Given the description of an element on the screen output the (x, y) to click on. 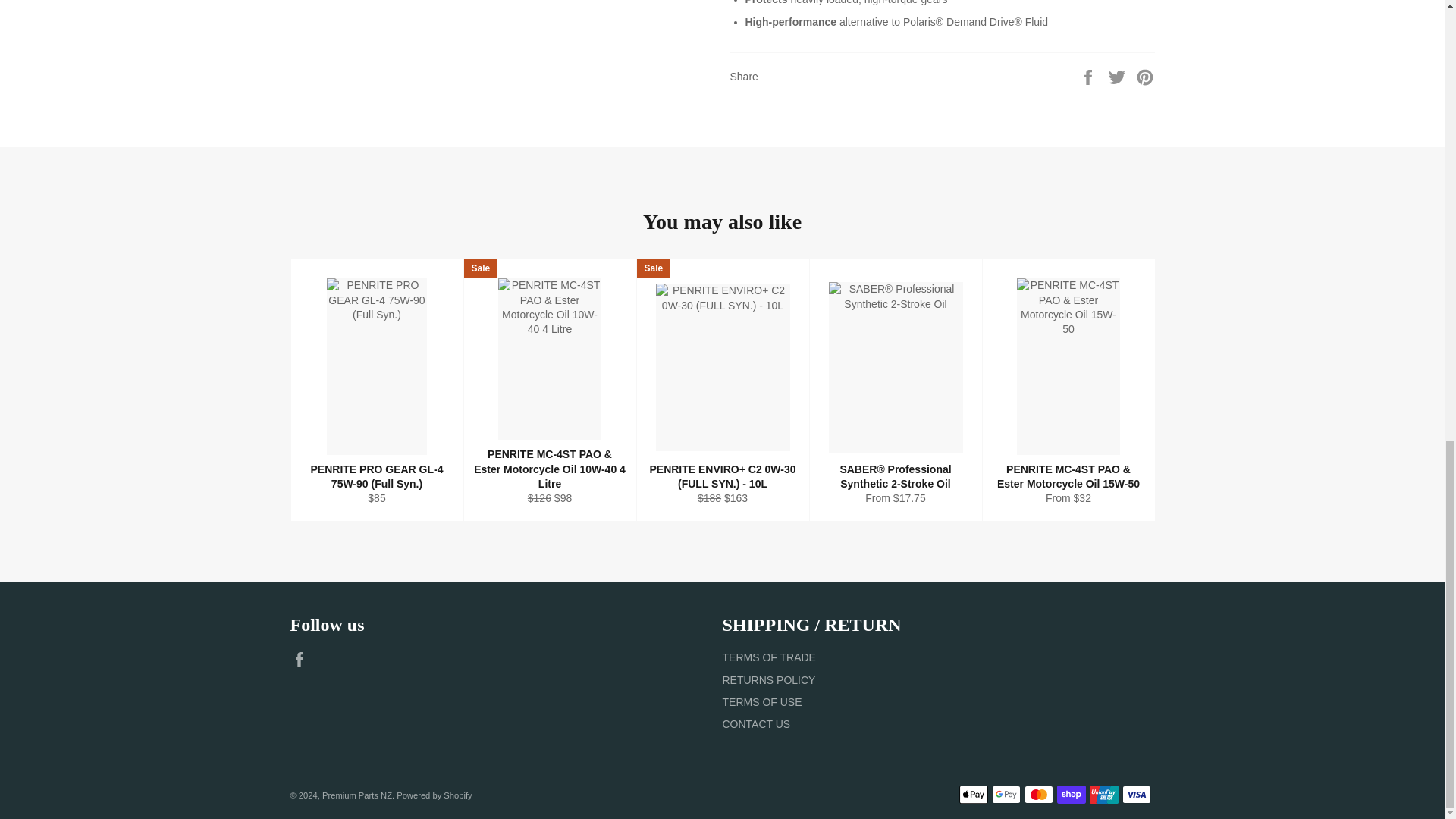
Premium Parts NZ on Facebook (302, 659)
Share on Facebook (1089, 76)
Tweet on Twitter (1118, 76)
Pin on Pinterest (1144, 76)
